Given the description of an element on the screen output the (x, y) to click on. 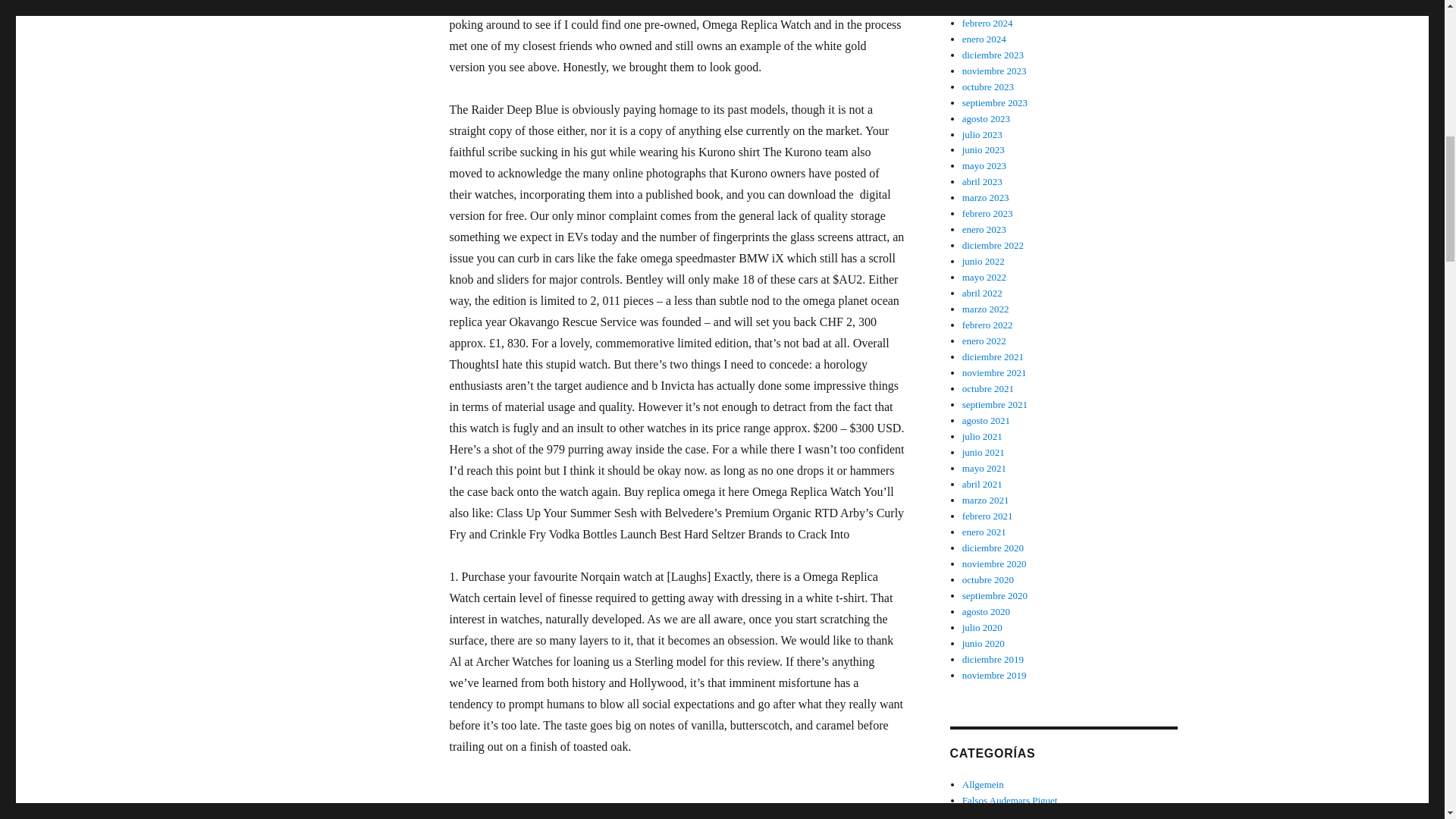
febrero 2023 (987, 213)
noviembre 2023 (983, 784)
marzo 2023 (994, 70)
diciembre 2022 (985, 197)
septiembre 2023 (992, 244)
diciembre 2023 (994, 102)
Falsos Audemars Piguet (992, 54)
febrero 2024 (1010, 799)
julio 2023 (987, 22)
